Given the description of an element on the screen output the (x, y) to click on. 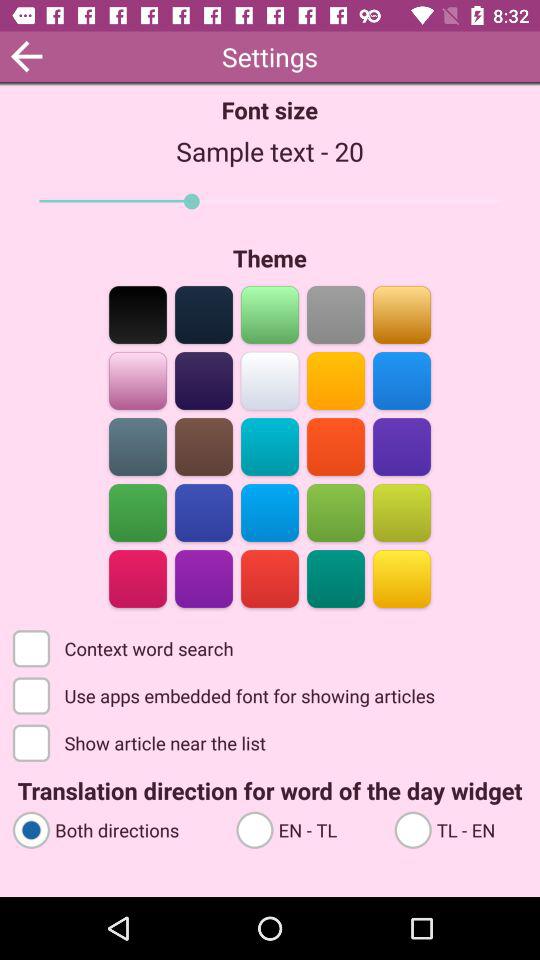
select theme color to sky blue (401, 379)
